Given the description of an element on the screen output the (x, y) to click on. 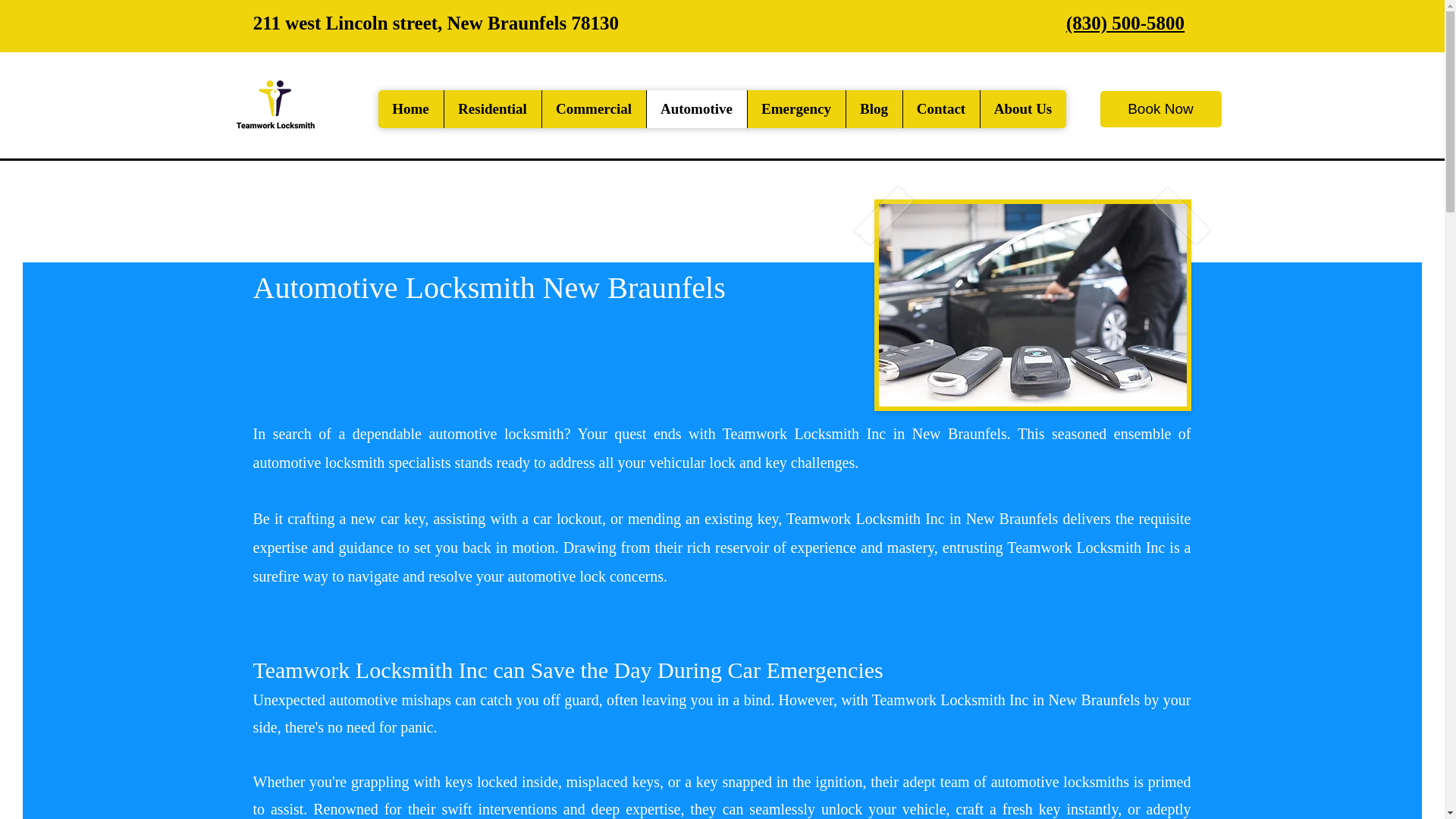
Contact (940, 108)
Home (409, 108)
Book Now (1160, 108)
Blog (872, 108)
Emergency (794, 108)
Residential (491, 108)
Commercial (593, 108)
Automotive (696, 108)
About Us (1022, 108)
